Given the description of an element on the screen output the (x, y) to click on. 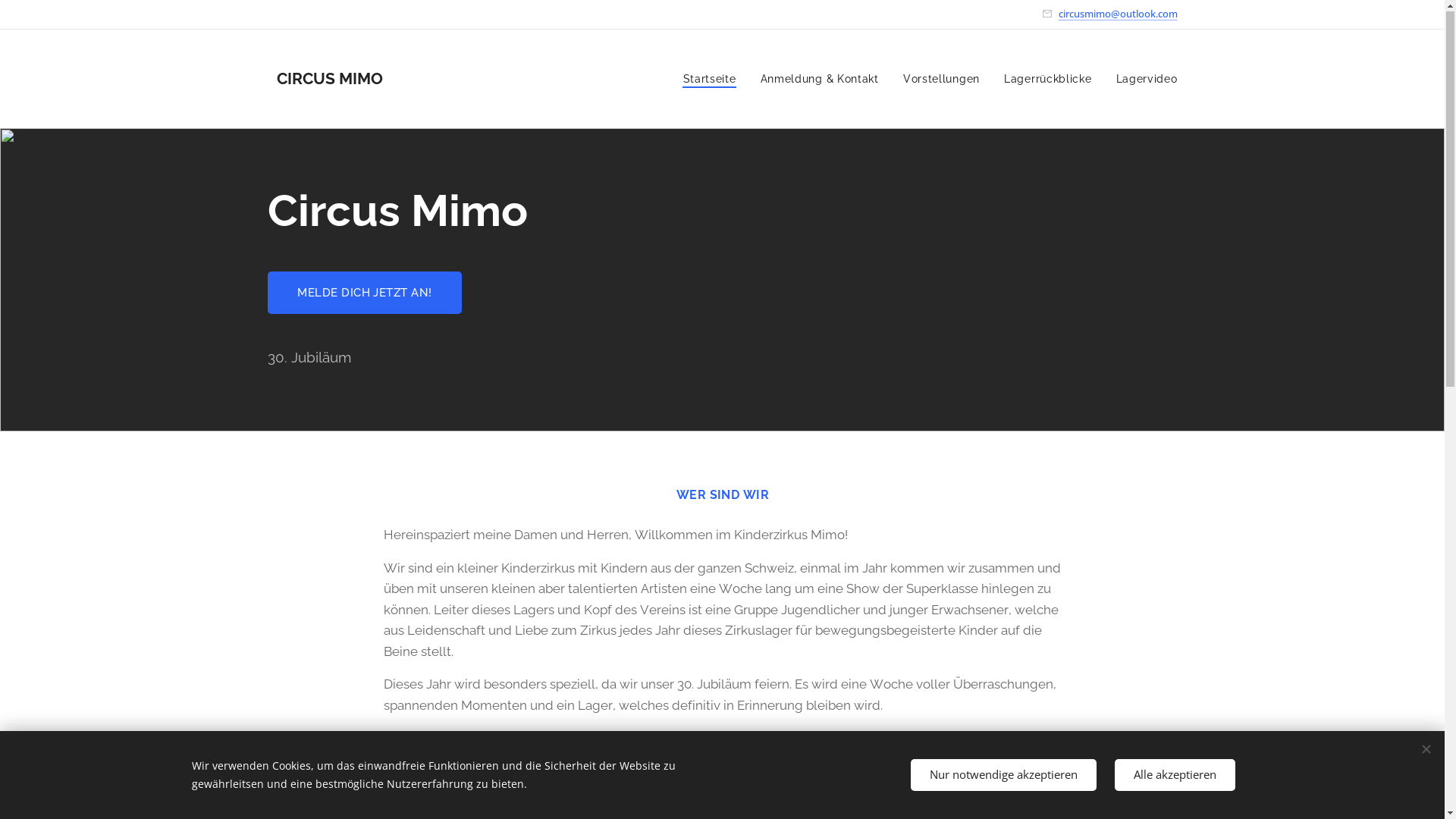
Vorstellungen Element type: text (941, 79)
Nur notwendige akzeptieren Element type: text (1002, 774)
Alle akzeptieren Element type: text (1174, 774)
Startseite Element type: text (713, 79)
Lagervideo Element type: text (1140, 79)
circusmimo@outlook.com Element type: text (1117, 14)
MELDE DICH JETZT AN! Element type: text (363, 293)
Anmeldung & Kontakt Element type: text (819, 79)
